Given the description of an element on the screen output the (x, y) to click on. 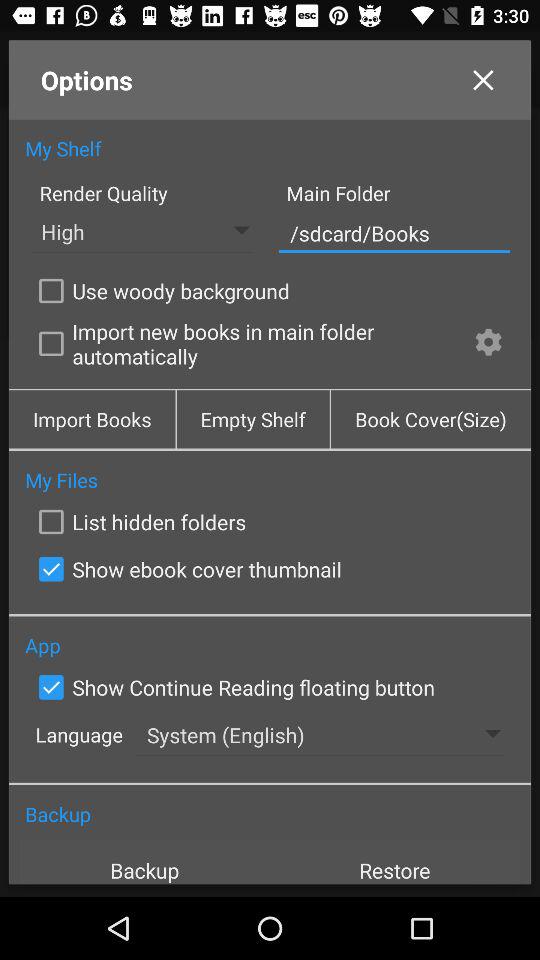
tap the checkbox below the list hidden folders icon (185, 569)
